Given the description of an element on the screen output the (x, y) to click on. 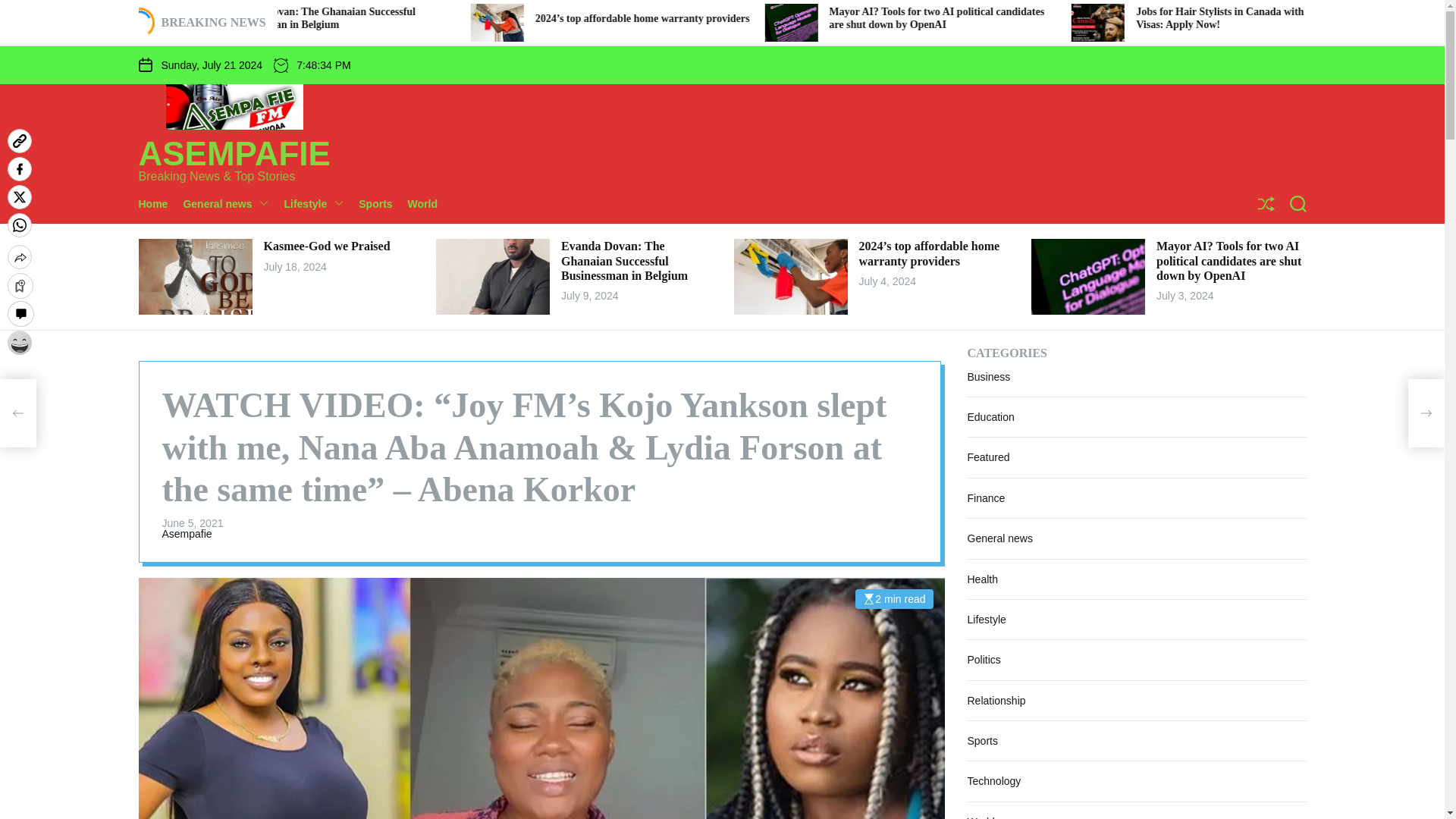
ASEMPAFIE (234, 153)
Home (160, 203)
Kasmee-God we Praised (397, 18)
